Given the description of an element on the screen output the (x, y) to click on. 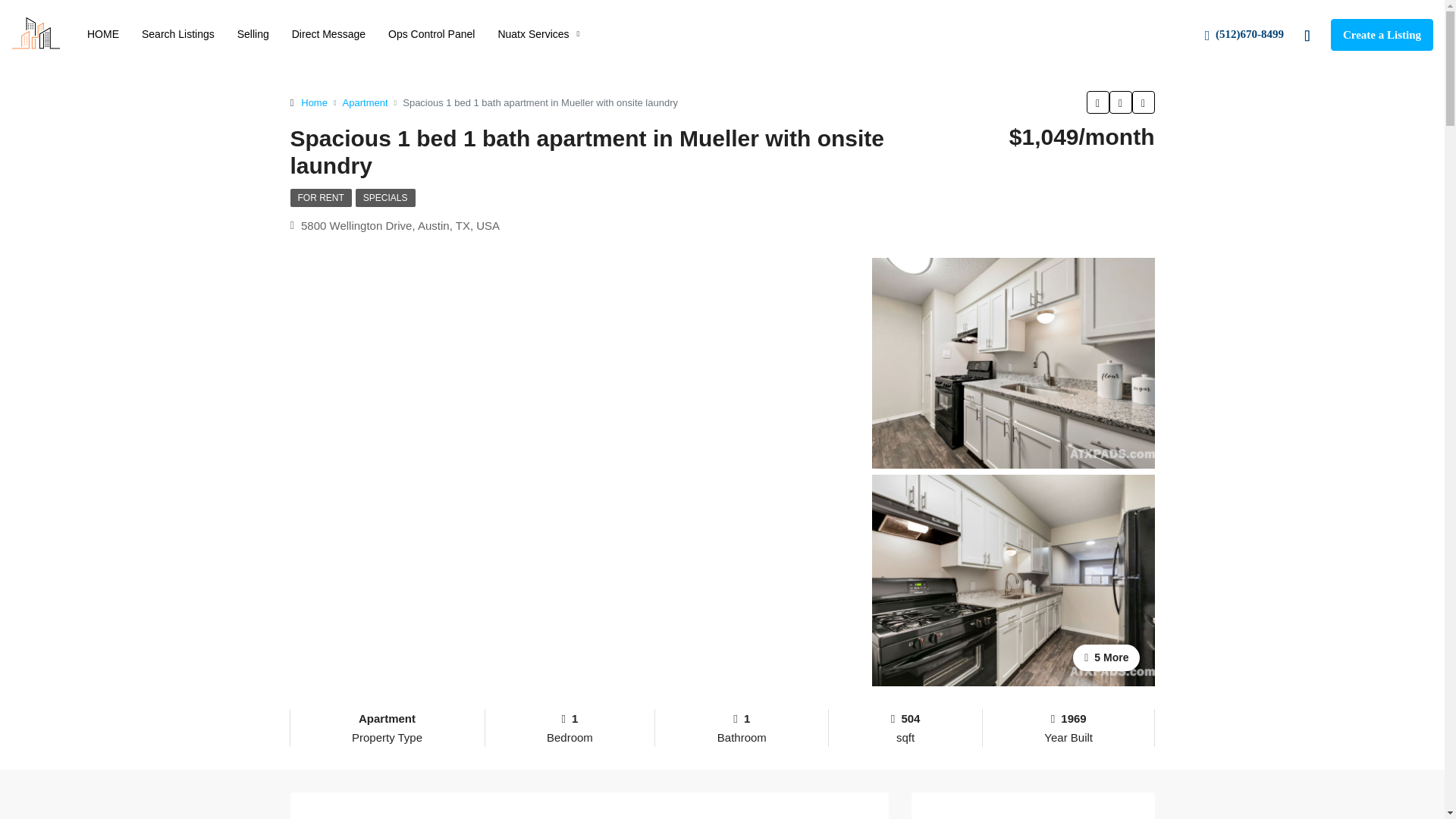
Ops Control Panel (431, 33)
Search Listings (178, 33)
Direct Message (329, 33)
Nuatx Services (538, 33)
Create a Listing (1381, 34)
